Given the description of an element on the screen output the (x, y) to click on. 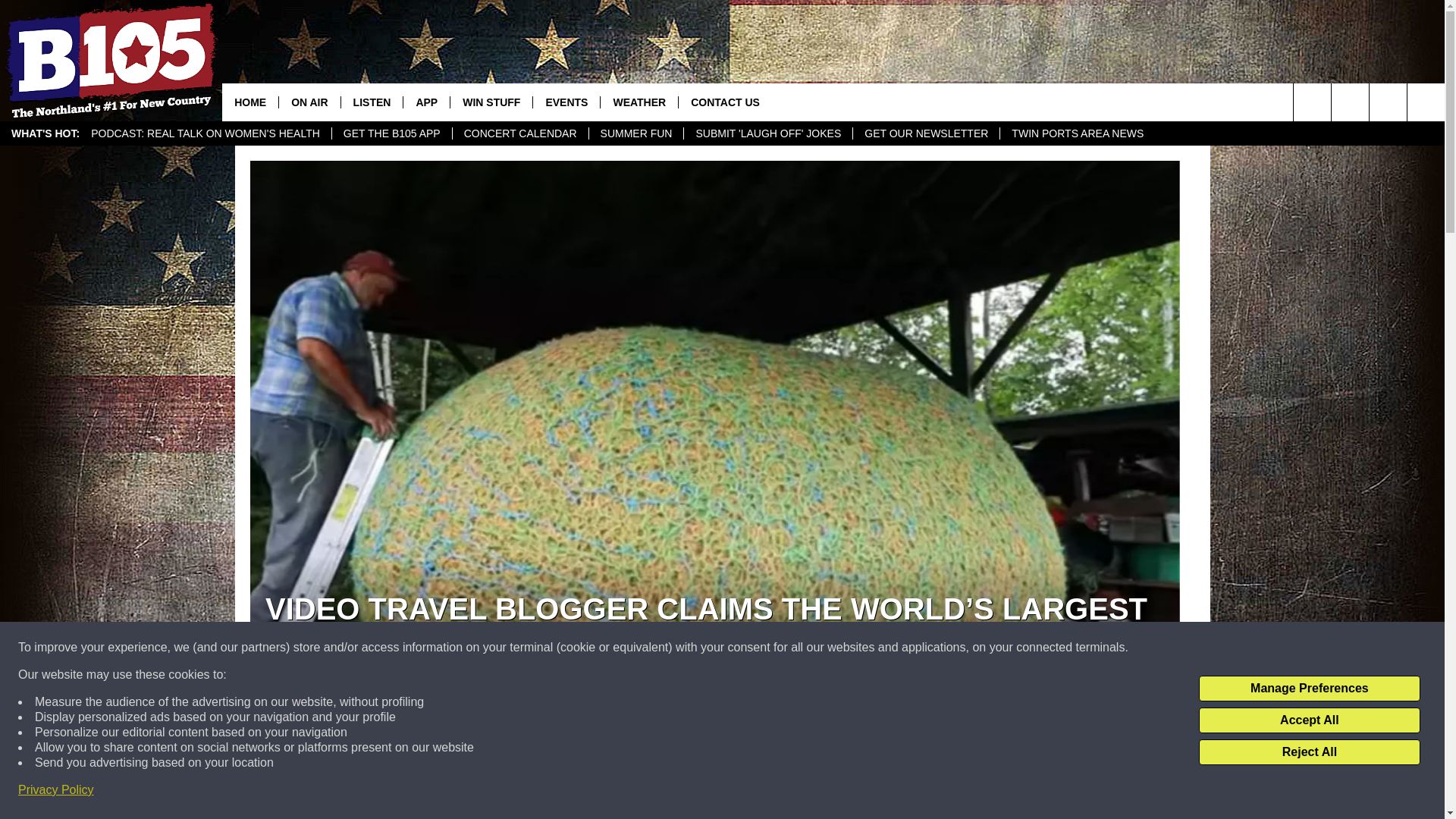
Accept All (1309, 720)
APP (426, 102)
Privacy Policy (55, 789)
LISTEN (371, 102)
Share on Facebook (517, 791)
Manage Preferences (1309, 688)
PODCAST: REAL TALK ON WOMEN'S HEALTH (205, 133)
HOME (250, 102)
SUBMIT 'LAUGH OFF' JOKES (766, 133)
CONCERT CALENDAR (519, 133)
SUMMER FUN (636, 133)
GET OUR NEWSLETTER (924, 133)
WIN STUFF (490, 102)
ON AIR (308, 102)
Share on Twitter (912, 791)
